Given the description of an element on the screen output the (x, y) to click on. 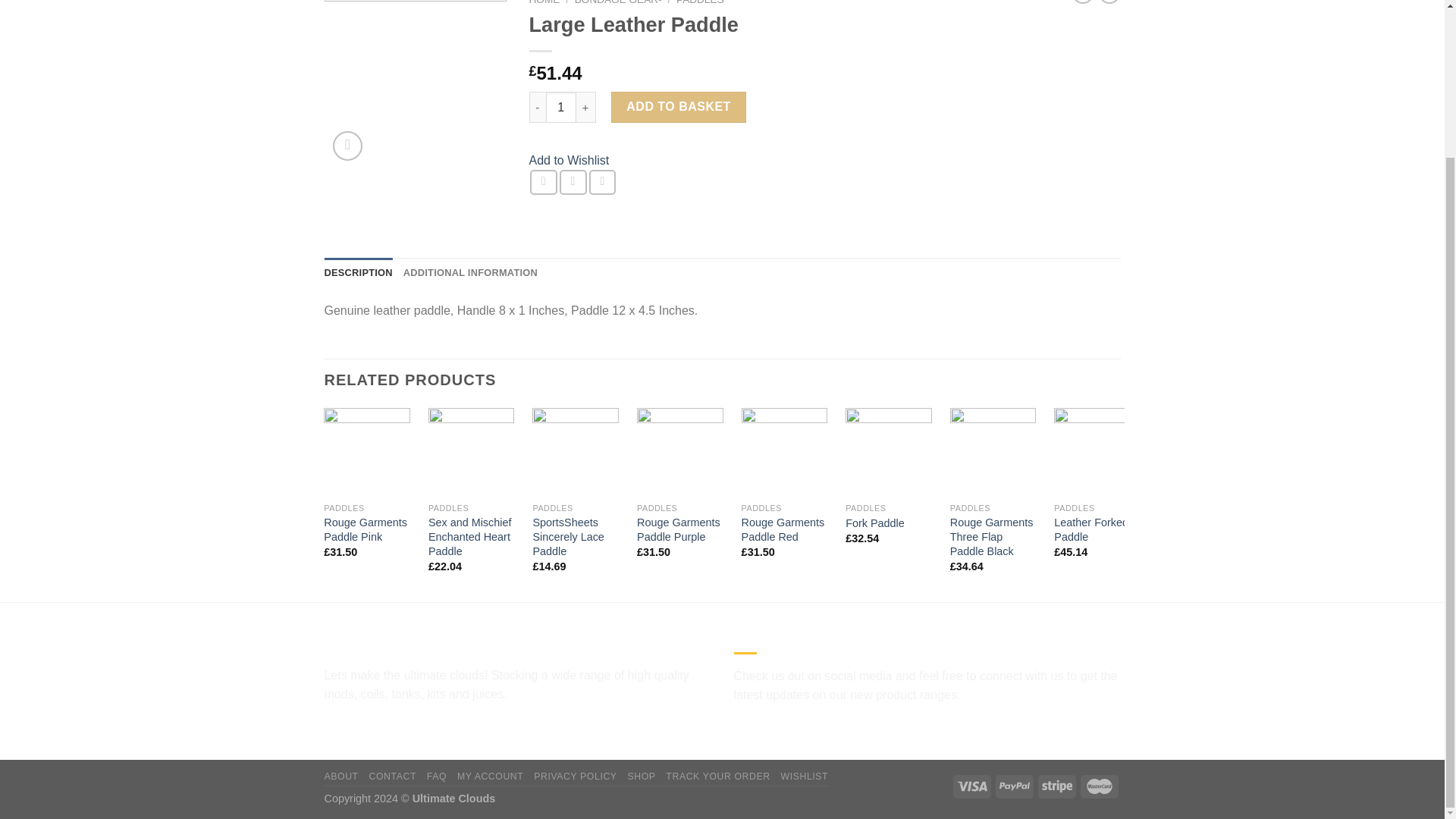
Share on Facebook (543, 181)
DESCRIPTION (358, 272)
Qty (561, 106)
Add to Wishlist (569, 160)
Zoom (347, 145)
ADDITIONAL INFORMATION (470, 272)
BONDAGE GEAR- (618, 2)
PADDLES (700, 2)
1 (561, 106)
ADD TO BASKET (678, 106)
